Given the description of an element on the screen output the (x, y) to click on. 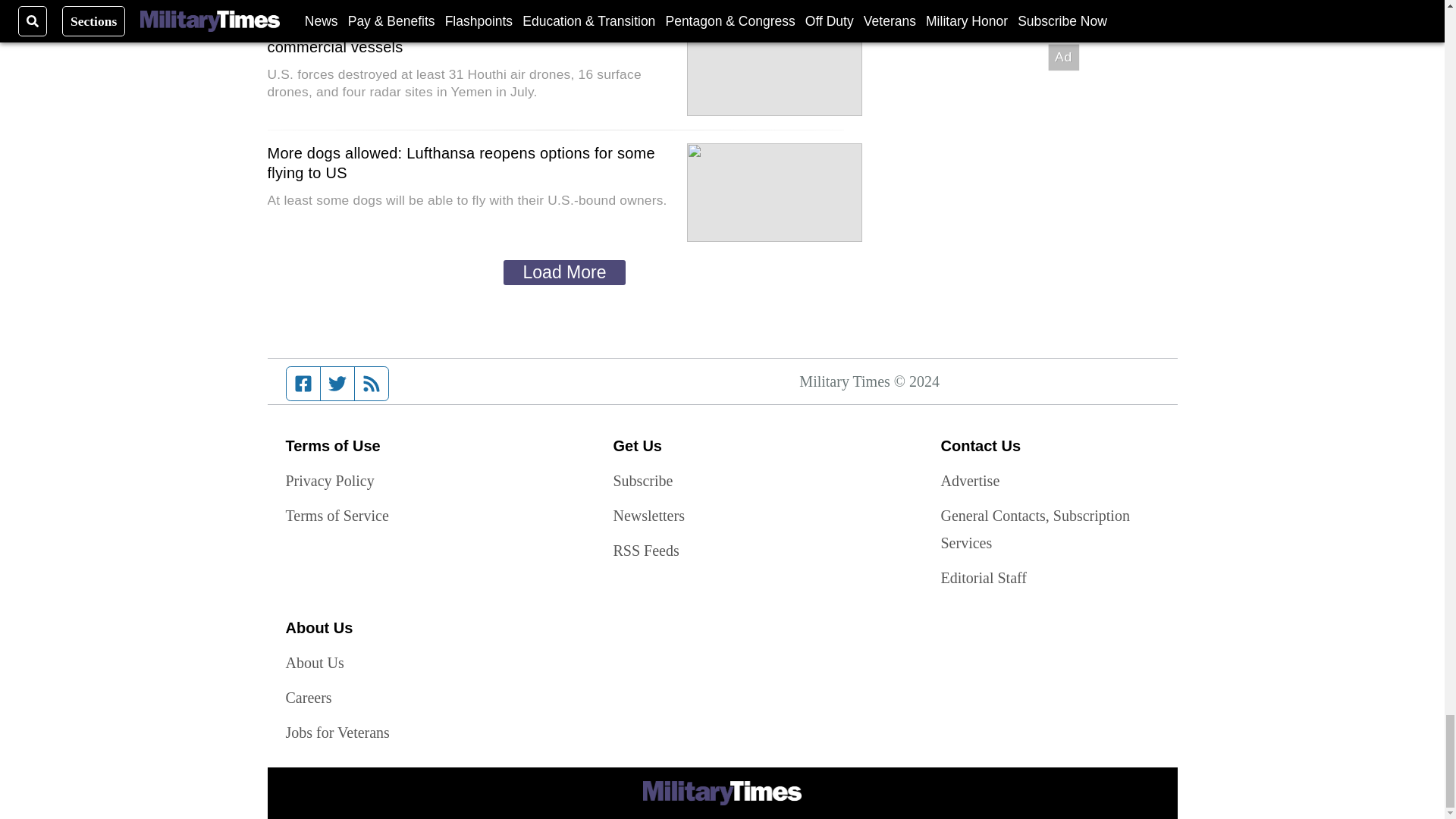
RSS feed (371, 383)
Twitter feed (336, 383)
Facebook page (303, 383)
